Given the description of an element on the screen output the (x, y) to click on. 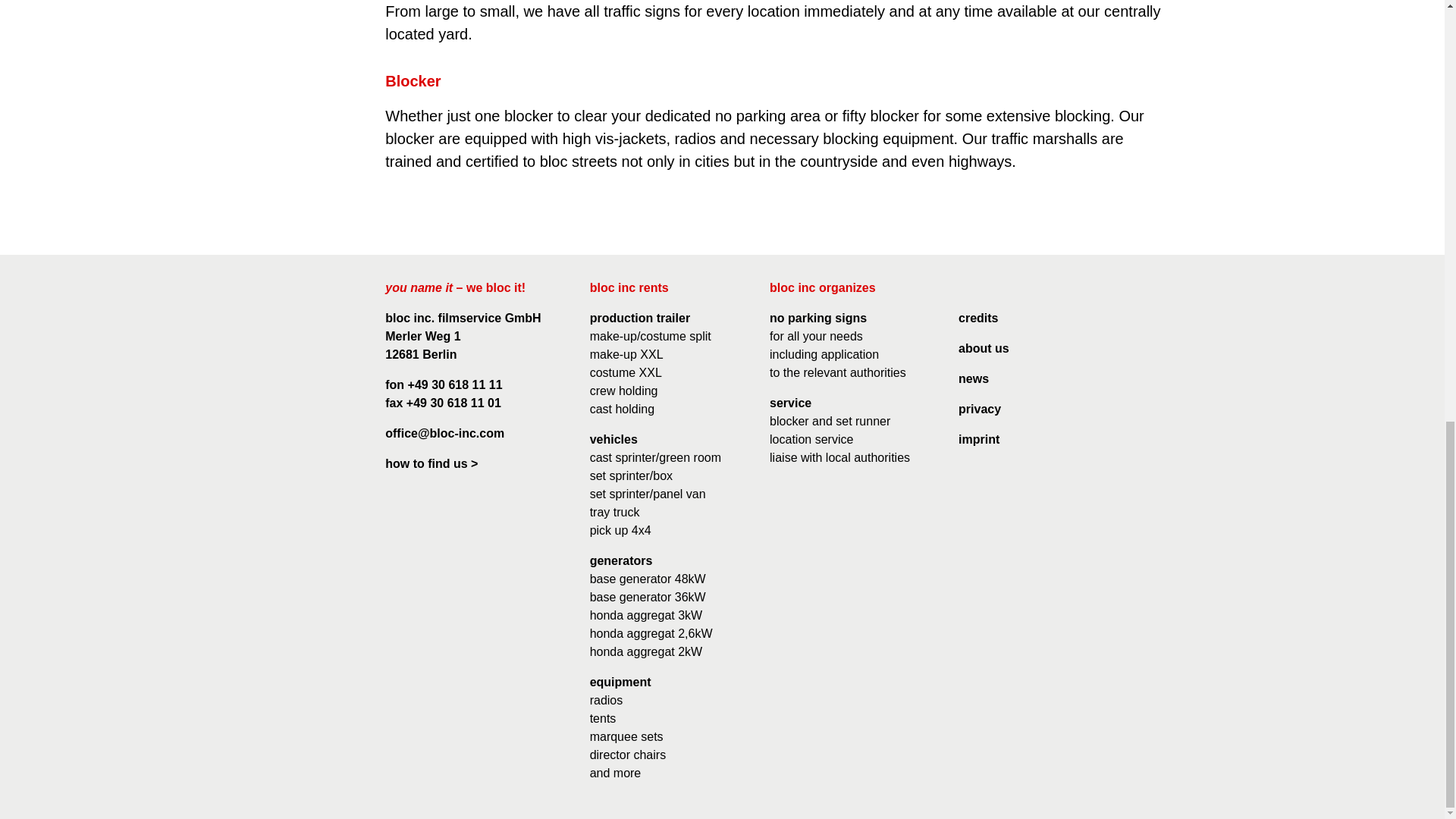
honda aggregat 2kW (646, 651)
base generator 48kW (647, 578)
vehicles (613, 439)
base generator 36kW (647, 596)
equipment (619, 681)
tray truck (614, 512)
honda aggregat 3kW (646, 615)
generators (620, 560)
production trailer (639, 318)
honda aggregat 2,6kW (651, 633)
pick up 4x4 (619, 530)
radios (606, 699)
costume XXL (625, 372)
cast holding (621, 408)
crew holding (623, 390)
